Given the description of an element on the screen output the (x, y) to click on. 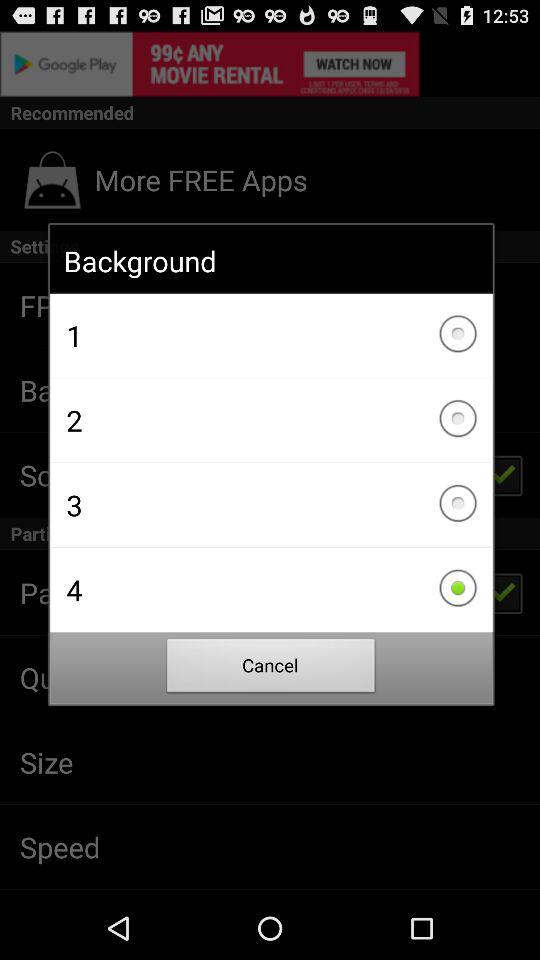
turn on the item below 4 item (271, 668)
